Given the description of an element on the screen output the (x, y) to click on. 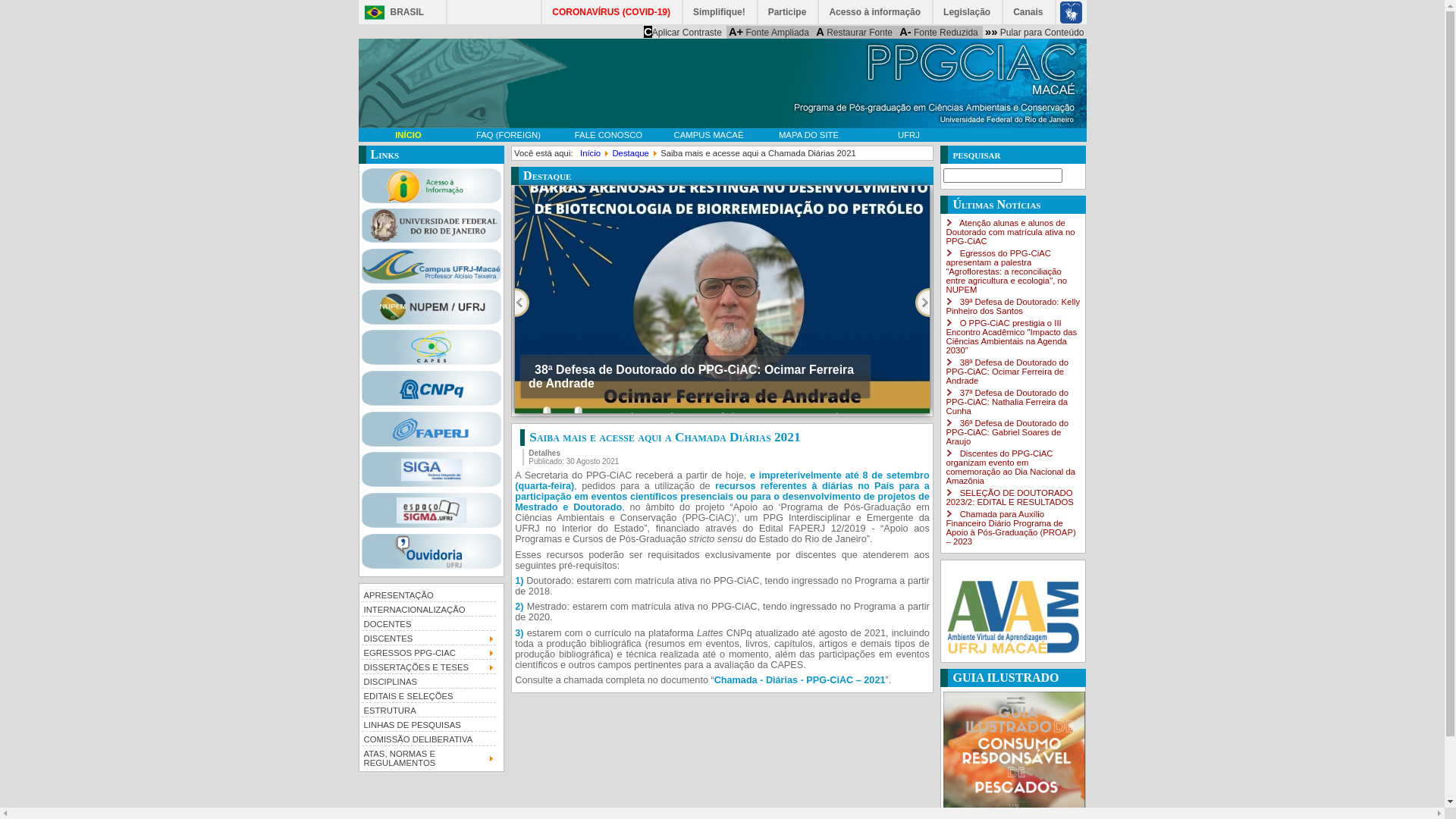
LINHAS DE PESQUISAS Element type: text (427, 723)
ATAS, NORMAS E REGULAMENTOS Element type: text (427, 756)
DISCENTES Element type: text (427, 637)
Simplifique! Element type: text (719, 11)
A+ Fonte Ampliada Element type: text (768, 31)
CAplicar Contraste Element type: text (682, 31)
FALE CONOSCO Element type: text (608, 134)
Next Element type: text (922, 302)
UFRJ Element type: text (908, 134)
MAPA DO SITE Element type: text (808, 134)
FAQ (FOREIGN) Element type: text (508, 134)
Destaque Element type: text (630, 152)
Previous Element type: text (521, 302)
EGRESSOS PPG-CIAC Element type: text (427, 651)
ESTRUTURA Element type: text (427, 709)
BRASIL Element type: text (389, 12)
Participe Element type: text (788, 11)
A- Fonte Reduzida Element type: text (938, 31)
Canais Element type: text (1028, 11)
DISCIPLINAS Element type: text (427, 680)
A Restaurar Fonte Element type: text (853, 31)
DOCENTES Element type: text (427, 622)
